Given the description of an element on the screen output the (x, y) to click on. 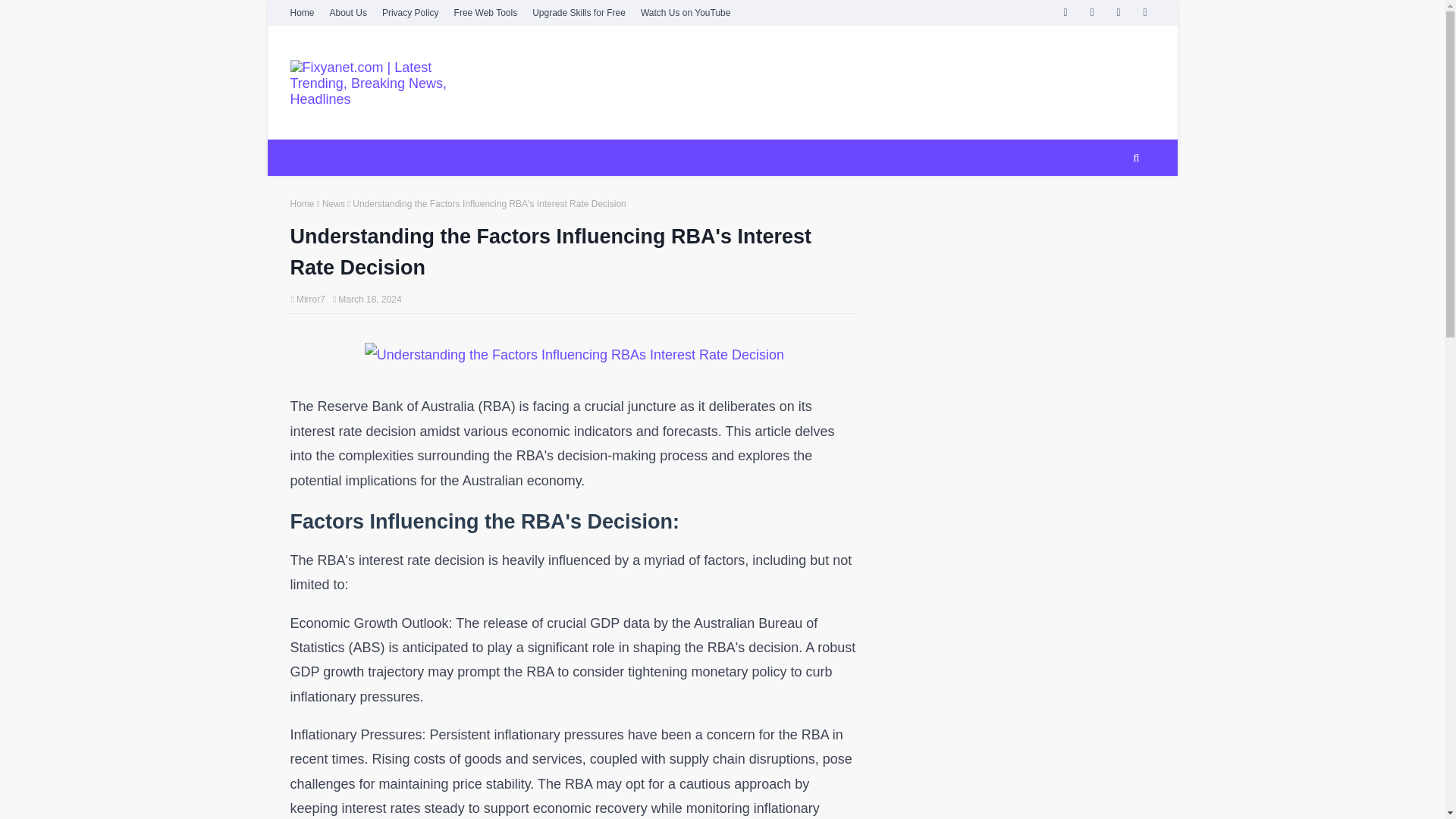
Watch Us on YouTube (686, 12)
Upgrade Skills for Free (578, 12)
Mirror7 (310, 299)
Home (301, 204)
facebook (1064, 12)
telegram (1144, 12)
youtube (1117, 12)
twitter (1092, 12)
Home (303, 12)
Privacy Policy (410, 12)
